Given the description of an element on the screen output the (x, y) to click on. 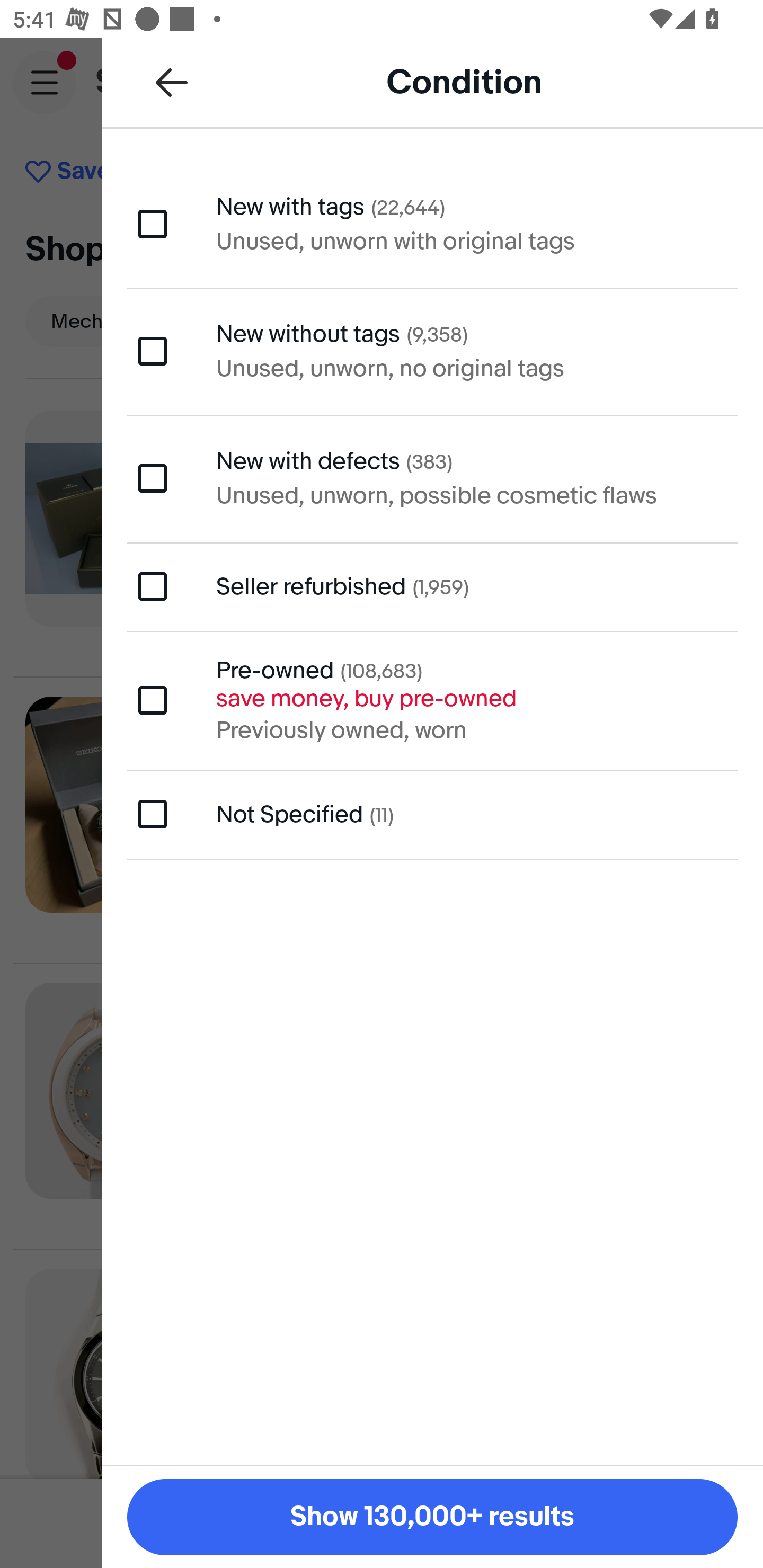
Back to all refinements (171, 81)
Seller refurbished (1,959) (432, 586)
Not Specified (11) (432, 814)
Show 130,000+ results (432, 1516)
